Given the description of an element on the screen output the (x, y) to click on. 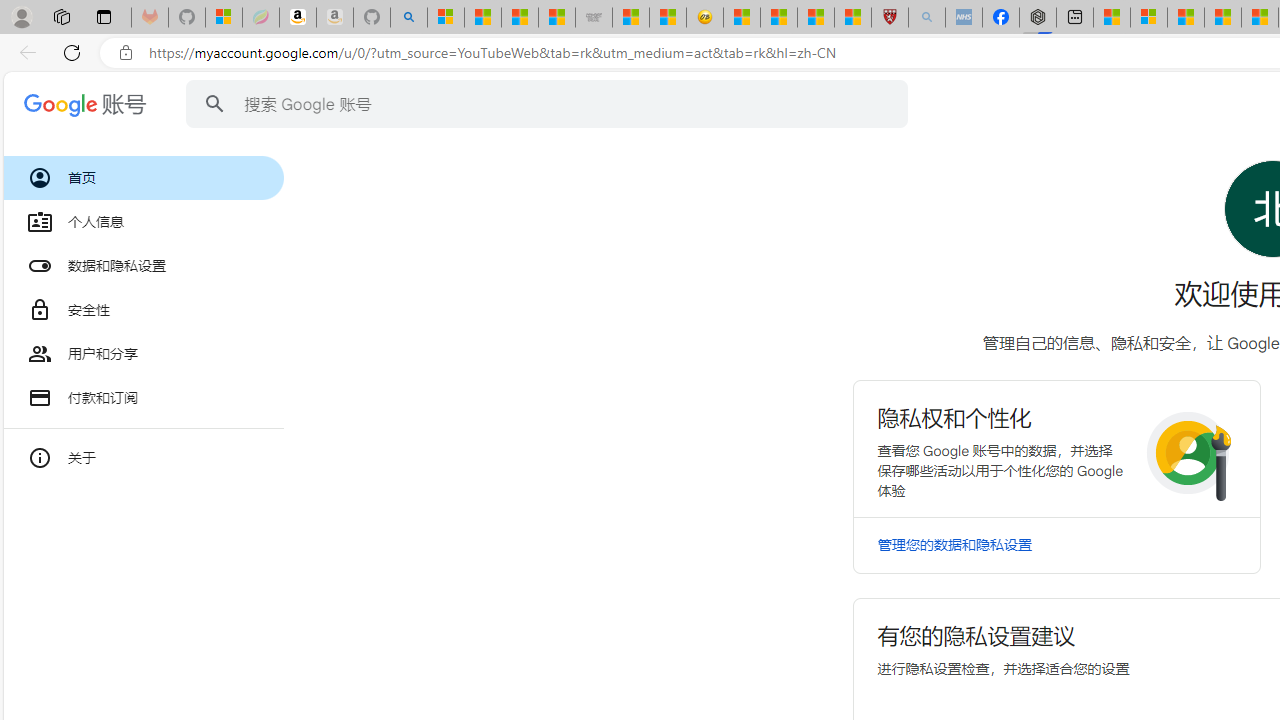
Class: RlFDUe N5YmOc kJXJmd bvW4md I6g62c (1055, 448)
